Given the description of an element on the screen output the (x, y) to click on. 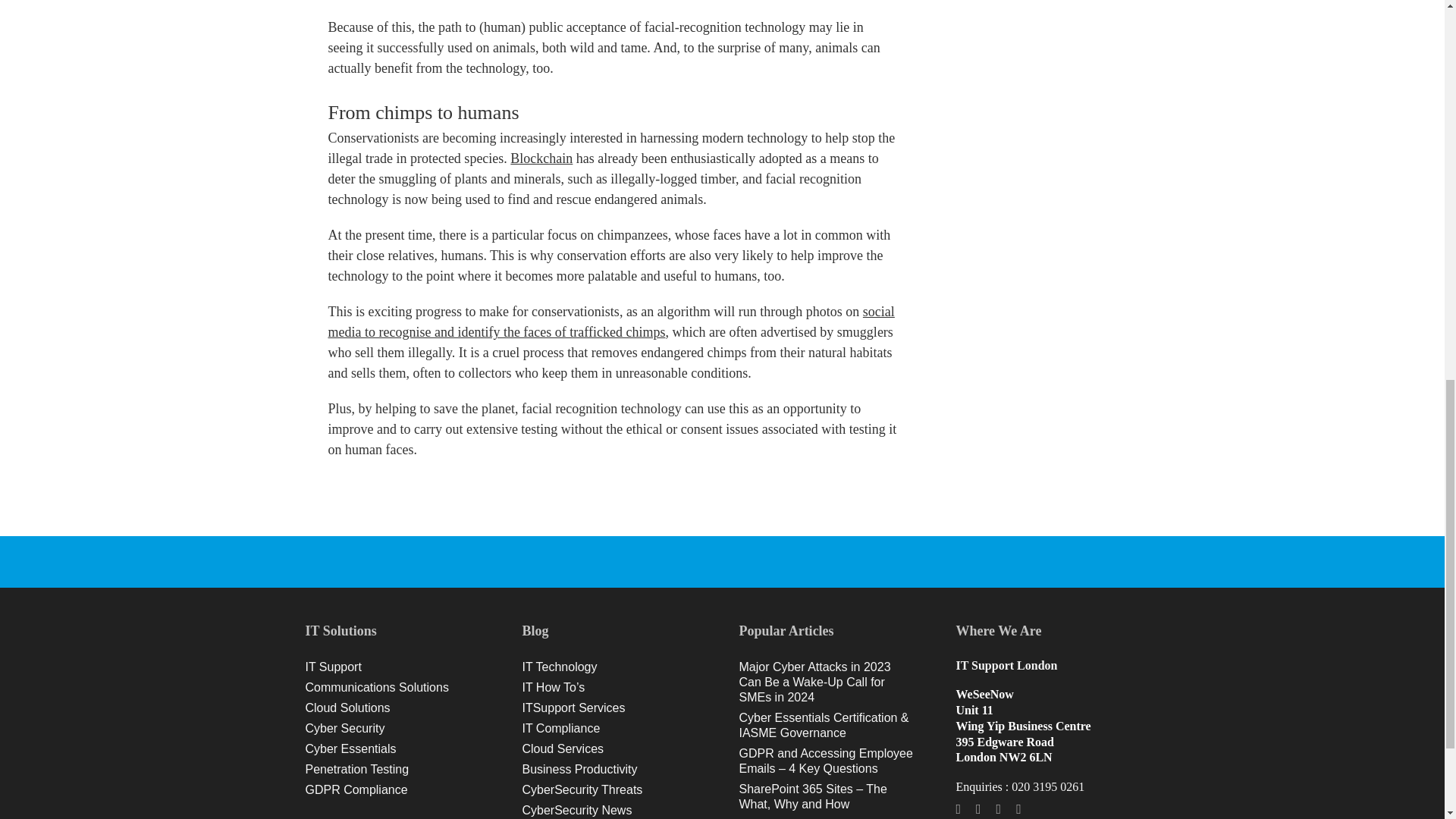
Instagram (1019, 808)
Voice and Data Solutions (395, 688)
LinkedIn (998, 808)
IT Support (395, 667)
Communications Solutions (395, 688)
IT Support (395, 667)
Blockchain (541, 158)
Facebook (957, 808)
Cyber Security (395, 729)
Cloud Solutions (395, 708)
X (978, 808)
Cyber Essentials (395, 749)
